Given the description of an element on the screen output the (x, y) to click on. 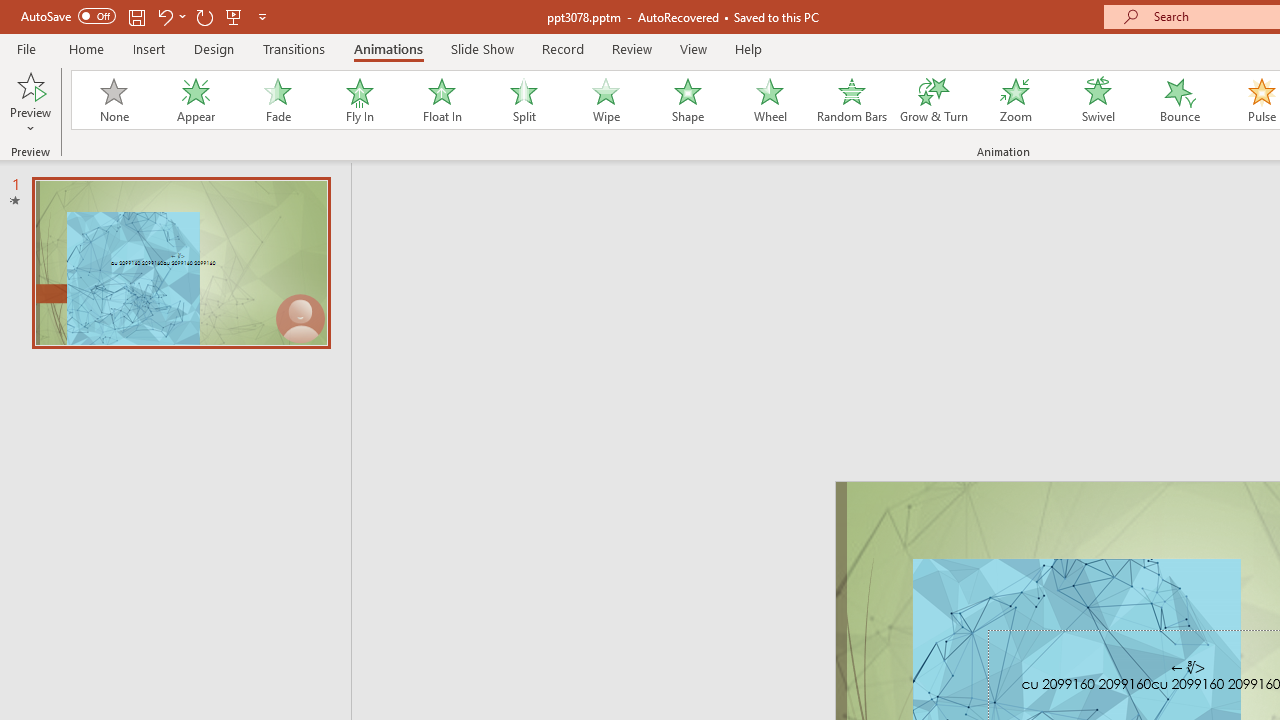
Random Bars (852, 100)
Split (523, 100)
Shape (687, 100)
Wheel (770, 100)
Appear (195, 100)
TextBox 7 (1188, 668)
